Given the description of an element on the screen output the (x, y) to click on. 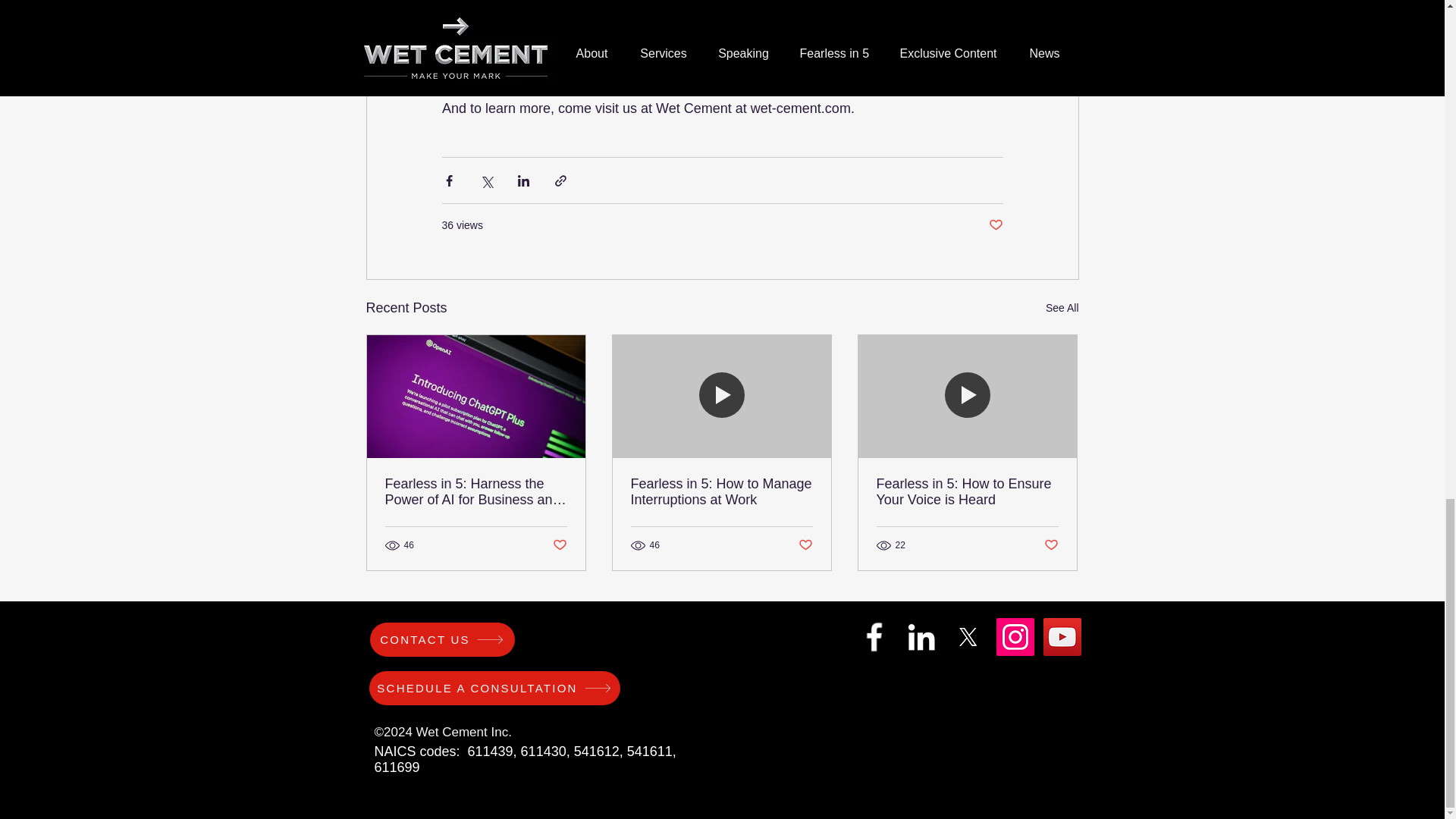
Fearless in 5: How to Ensure Your Voice is Heard (967, 491)
Post not marked as liked (995, 225)
See All (1061, 308)
CONTACT US (442, 639)
Post not marked as liked (1050, 545)
Post not marked as liked (558, 545)
Post not marked as liked (804, 545)
Fearless in 5: How to Manage Interruptions at Work (721, 491)
SCHEDULE A CONSULTATION (494, 687)
